Given the description of an element on the screen output the (x, y) to click on. 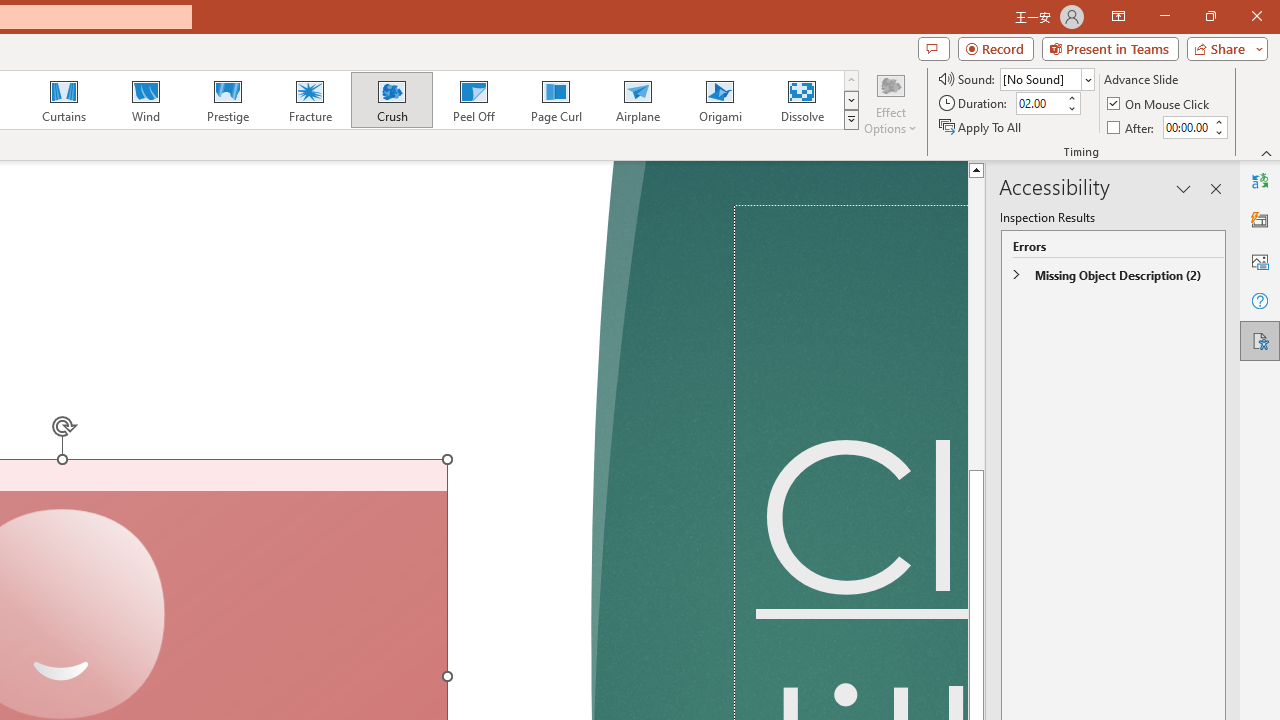
Airplane (637, 100)
Apply To All (981, 126)
Curtains (63, 100)
Page Curl (555, 100)
Transition Effects (850, 120)
